Given the description of an element on the screen output the (x, y) to click on. 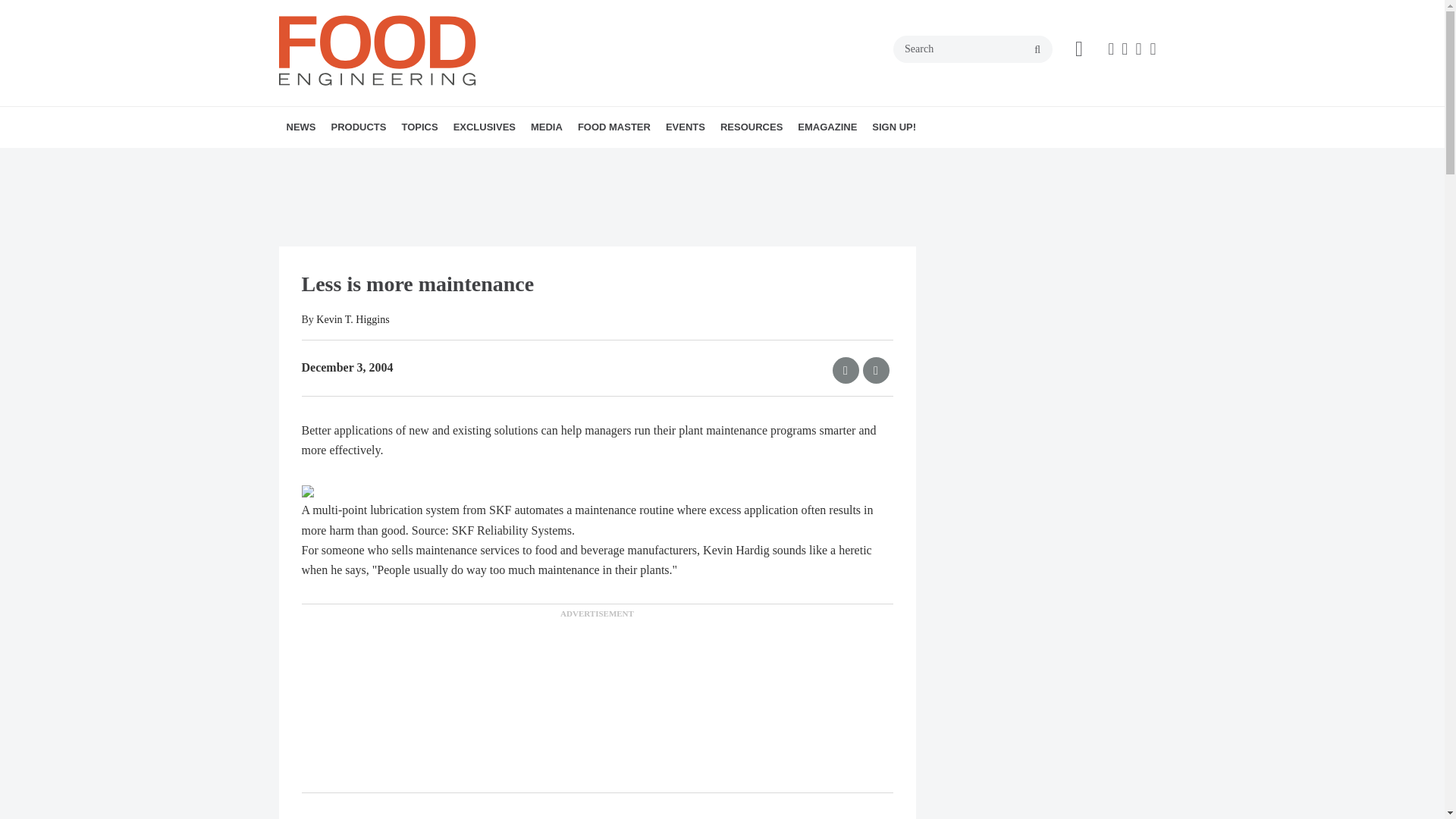
MANUFACTURING NEWS (380, 160)
ALTERNATIVE PROTEIN (488, 160)
Search (972, 49)
FOOD SAFETY (516, 160)
SUPPLIER NEWS (404, 160)
FABULOUS FOOD PLANTS (512, 160)
search (1037, 50)
Search (972, 49)
MAINTENANCE STRATEGIES (519, 160)
SUSTAINABILITY (528, 160)
